Given the description of an element on the screen output the (x, y) to click on. 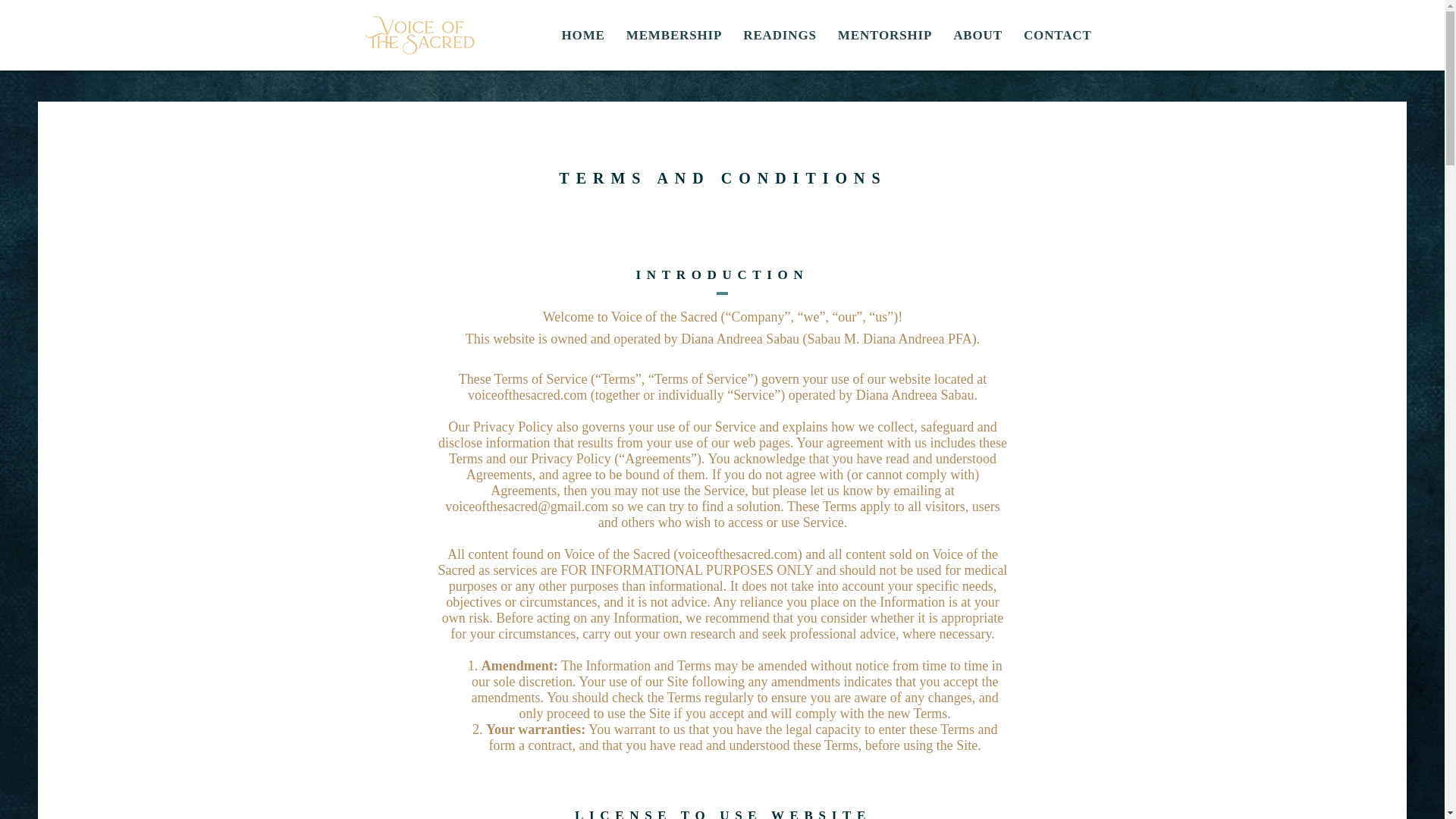
READINGS (779, 34)
HOME (823, 34)
MENTORSHIP (582, 34)
MEMBERSHIP (884, 34)
ABOUT (674, 34)
CONTACT (977, 34)
logo3.png (1057, 34)
